Given the description of an element on the screen output the (x, y) to click on. 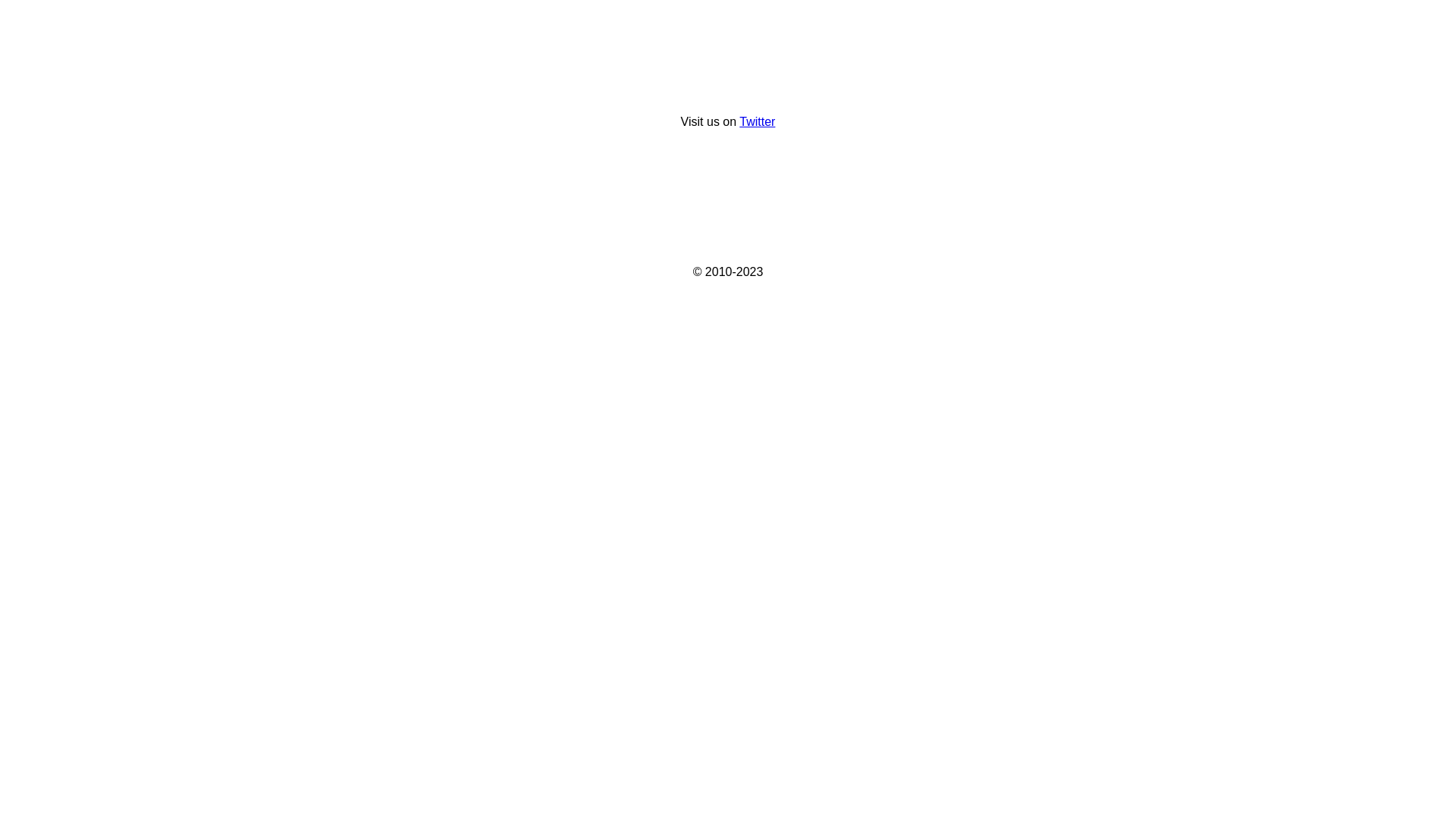
Twitter Element type: text (757, 121)
